Given the description of an element on the screen output the (x, y) to click on. 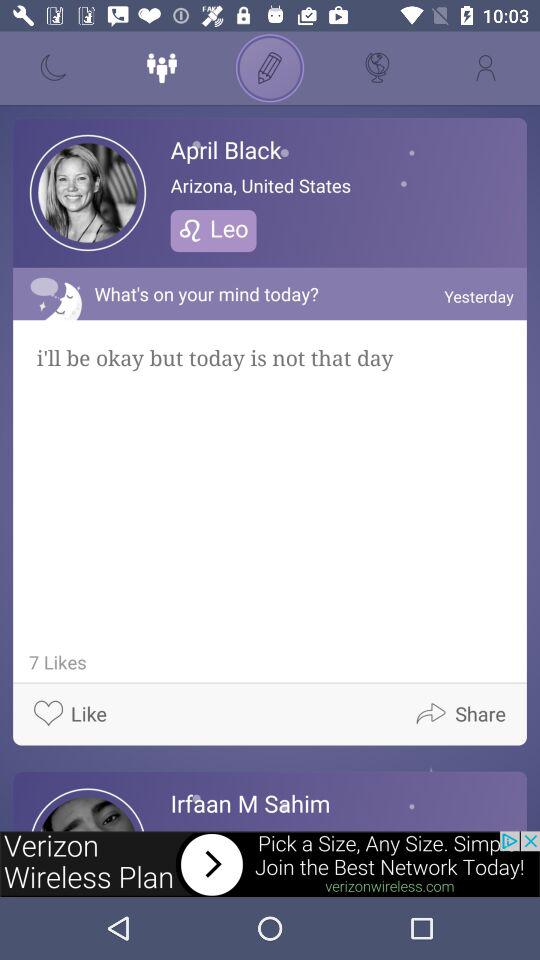
learn about this product (270, 864)
